Given the description of an element on the screen output the (x, y) to click on. 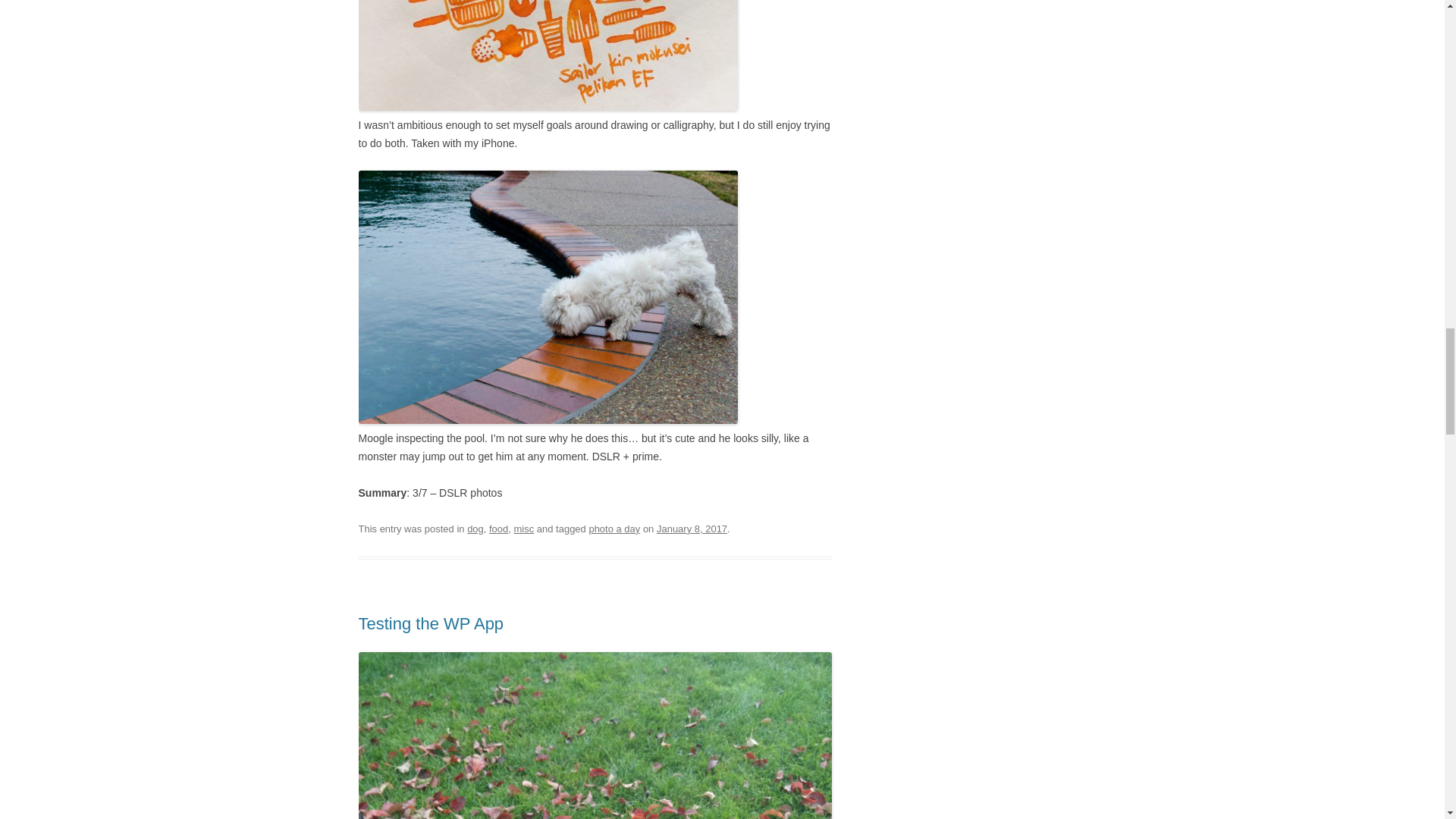
dog (475, 528)
misc (523, 528)
Testing the WP App (430, 623)
photo a day (614, 528)
January 8, 2017 (691, 528)
1:49 am (691, 528)
food (498, 528)
